Given the description of an element on the screen output the (x, y) to click on. 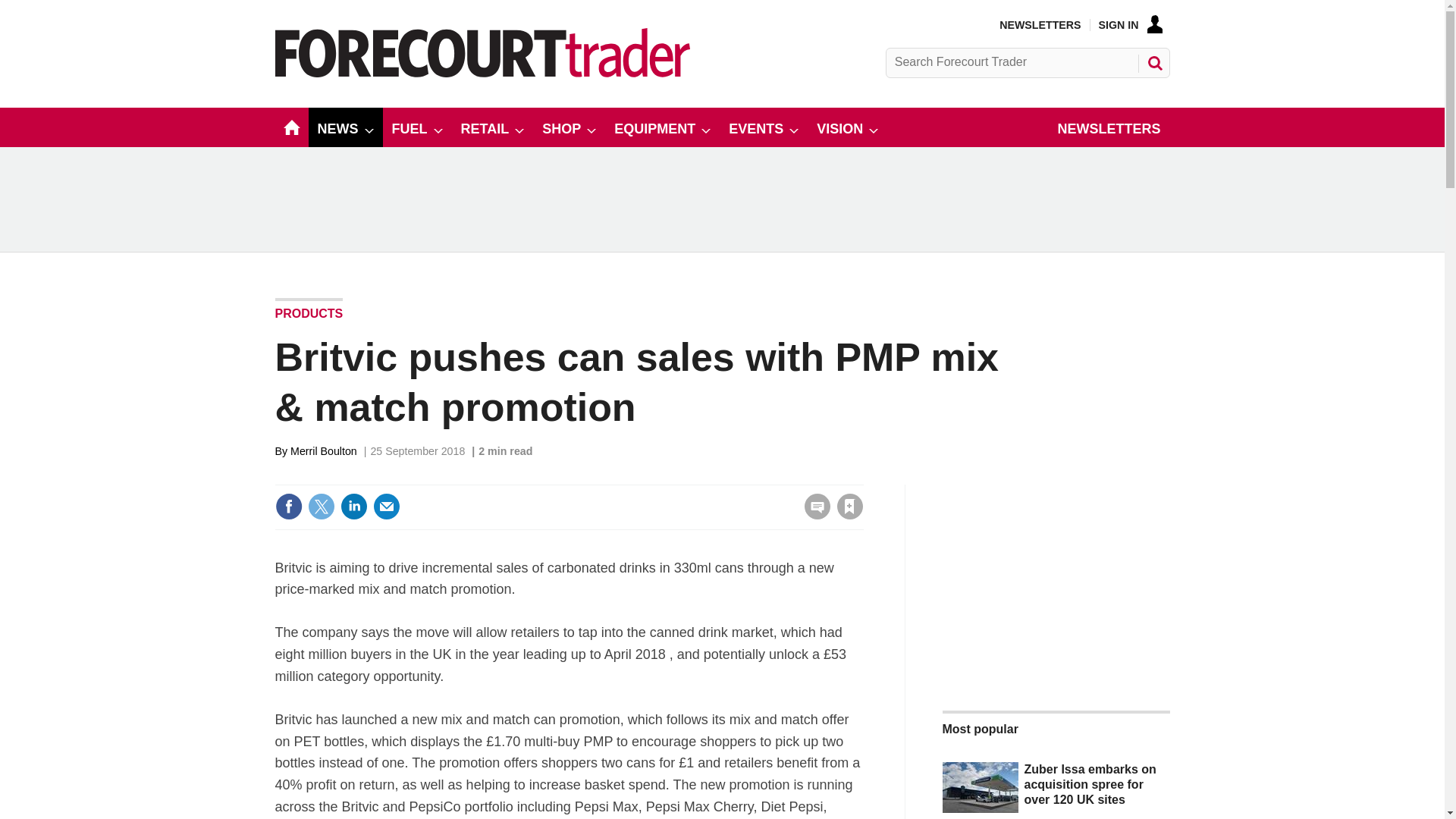
Share this on Linked in (352, 506)
No comments (812, 515)
Share this on Twitter (320, 506)
SIGN IN (1130, 24)
Share this on Facebook (288, 506)
SEARCH (1153, 62)
Site name (482, 72)
NEWSLETTERS (1039, 24)
3rd party ad content (1055, 579)
3rd party ad content (722, 199)
Email this article (386, 506)
